Given the description of an element on the screen output the (x, y) to click on. 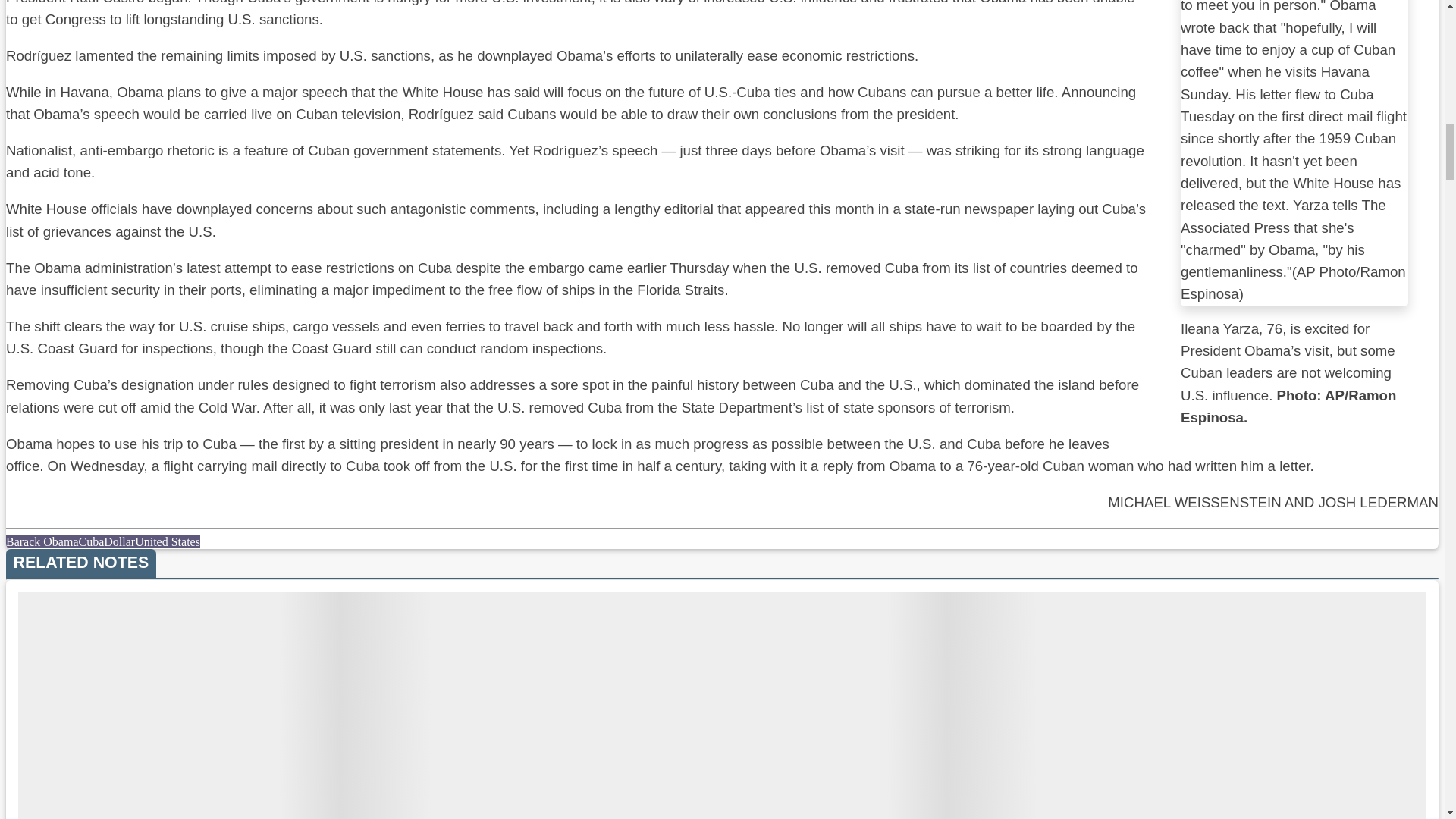
Cuba (91, 541)
Barack Obama (41, 541)
United States (167, 541)
Dollar (119, 541)
